Given the description of an element on the screen output the (x, y) to click on. 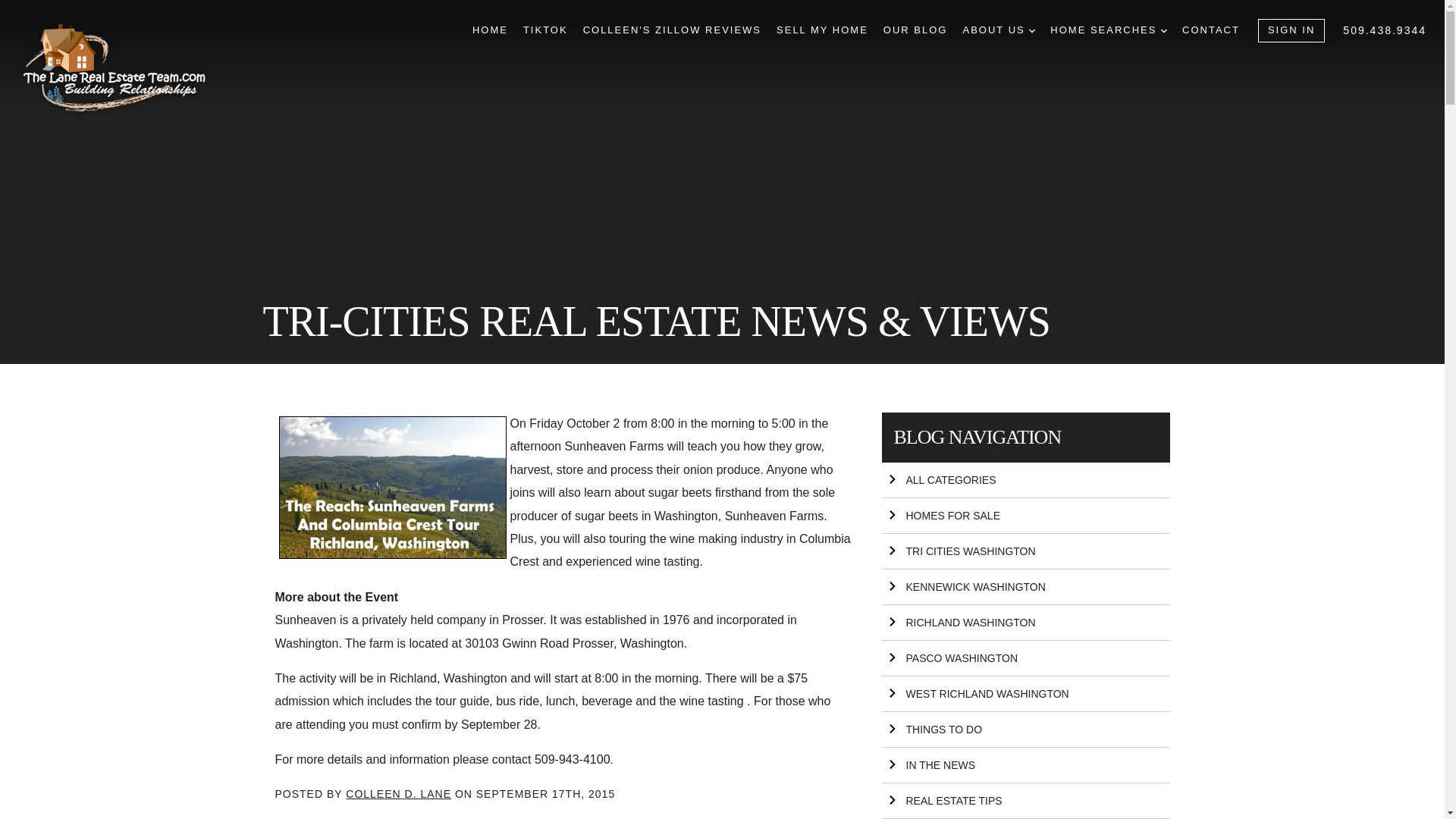
HOME SEARCHES DROPDOWN ARROW (1108, 30)
DROPDOWN ARROW (1163, 30)
TIKTOK (544, 30)
COLLEEN'S ZILLOW REVIEWS (672, 30)
SELL MY HOME (821, 30)
HOME (489, 30)
OUR BLOG (915, 30)
DROPDOWN ARROW (1032, 30)
CONTACT (1211, 30)
ABOUT US DROPDOWN ARROW (998, 30)
